Given the description of an element on the screen output the (x, y) to click on. 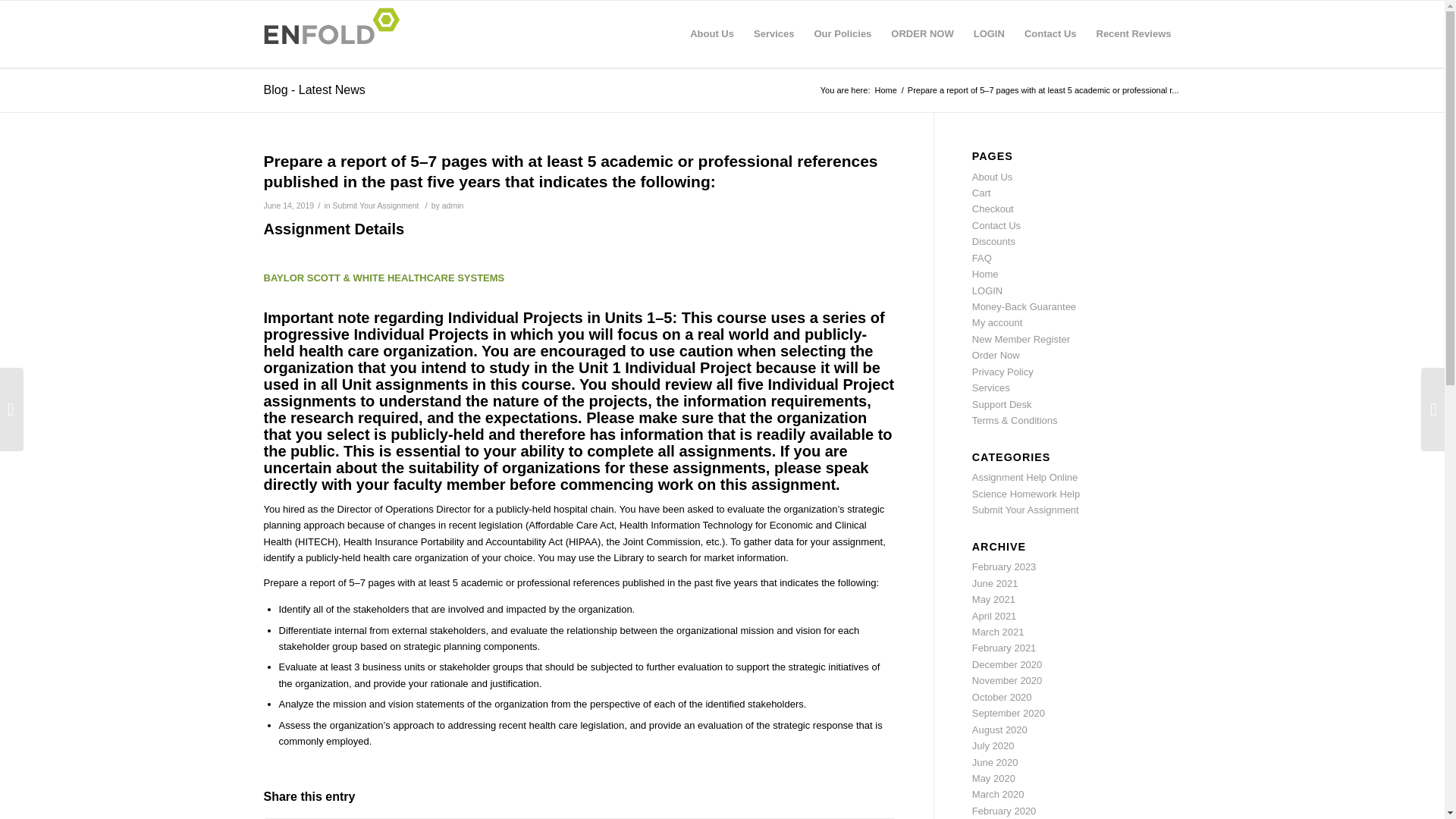
Contact Us (996, 225)
Blog - Latest News (314, 89)
LOGIN (988, 33)
Posts by admin (453, 204)
Contact Us (1050, 33)
Submit Your Essays (885, 90)
Money-Back Guarantee (1023, 306)
Home (885, 90)
Home (985, 274)
Our Policies (841, 33)
LOGIN (987, 290)
About Us (711, 33)
Discounts (993, 241)
Services (774, 33)
New Member Register (1021, 338)
